Given the description of an element on the screen output the (x, y) to click on. 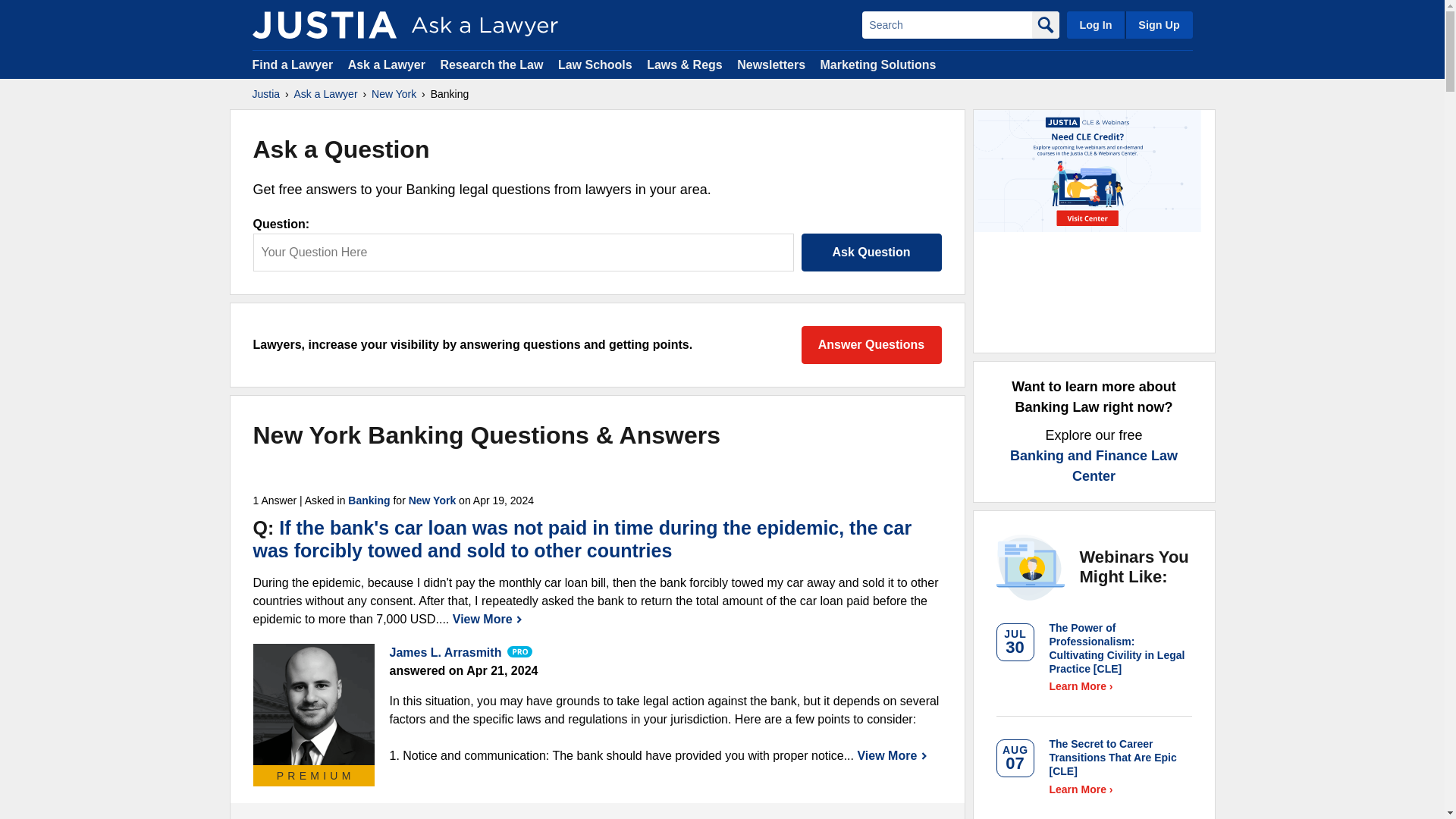
Ask Question (870, 252)
View More (487, 618)
Answer Questions (870, 344)
Research the Law (491, 64)
Log In (1094, 24)
Ask a Lawyer (326, 93)
Find a Lawyer (292, 64)
View More (892, 755)
Law Schools (594, 64)
Banking (368, 500)
Ask a Lawyer (388, 64)
New York (433, 500)
Sign Up (1158, 24)
Marketing Solutions (877, 64)
